Given the description of an element on the screen output the (x, y) to click on. 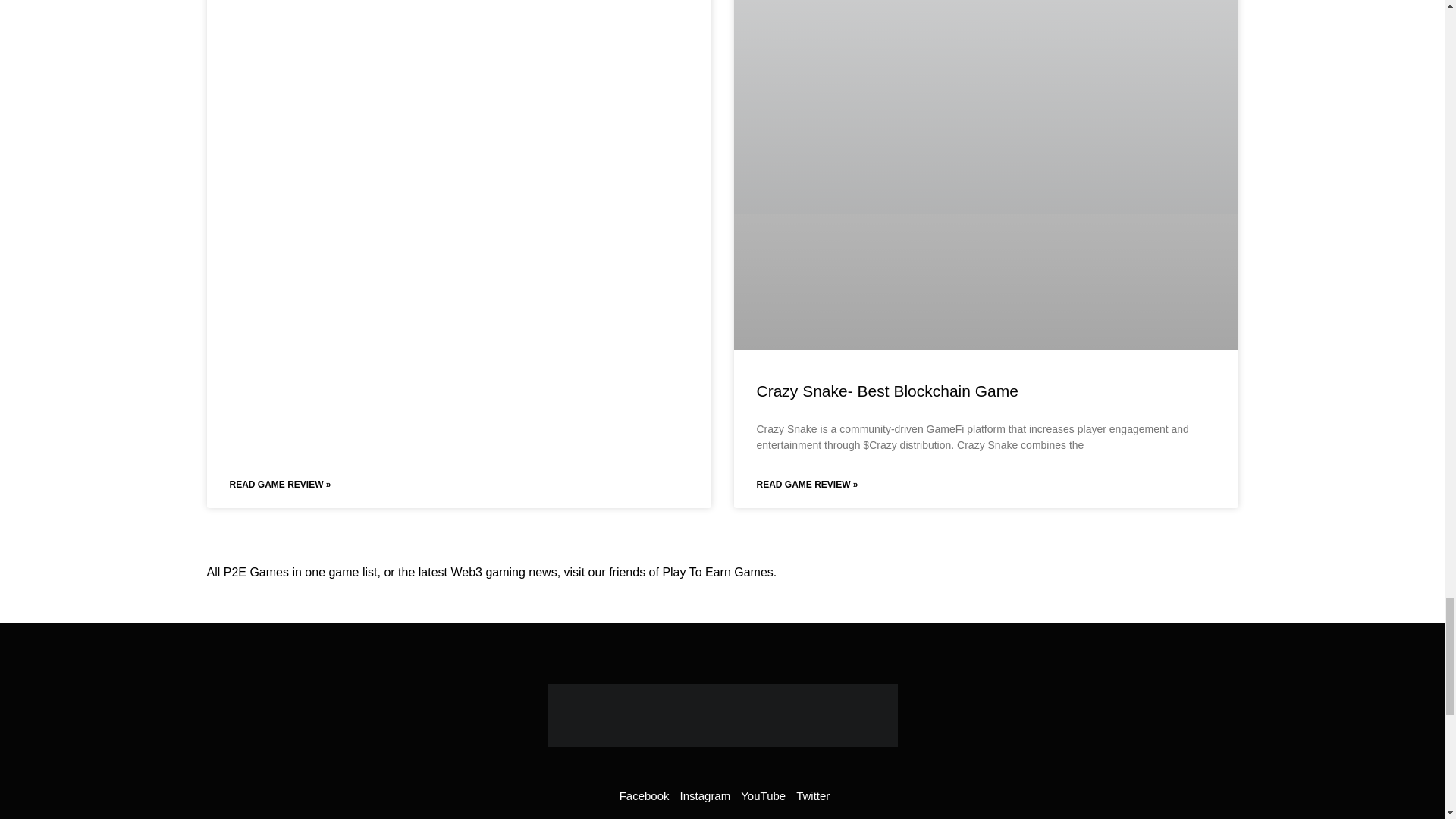
All P2E Games (247, 571)
Instagram (702, 795)
Crazy Snake- Best Blockchain Game (887, 390)
YouTube (761, 795)
latest Web3 gaming news, (489, 571)
Facebook (641, 795)
Twitter (810, 795)
Play To Earn Games (717, 571)
